Given the description of an element on the screen output the (x, y) to click on. 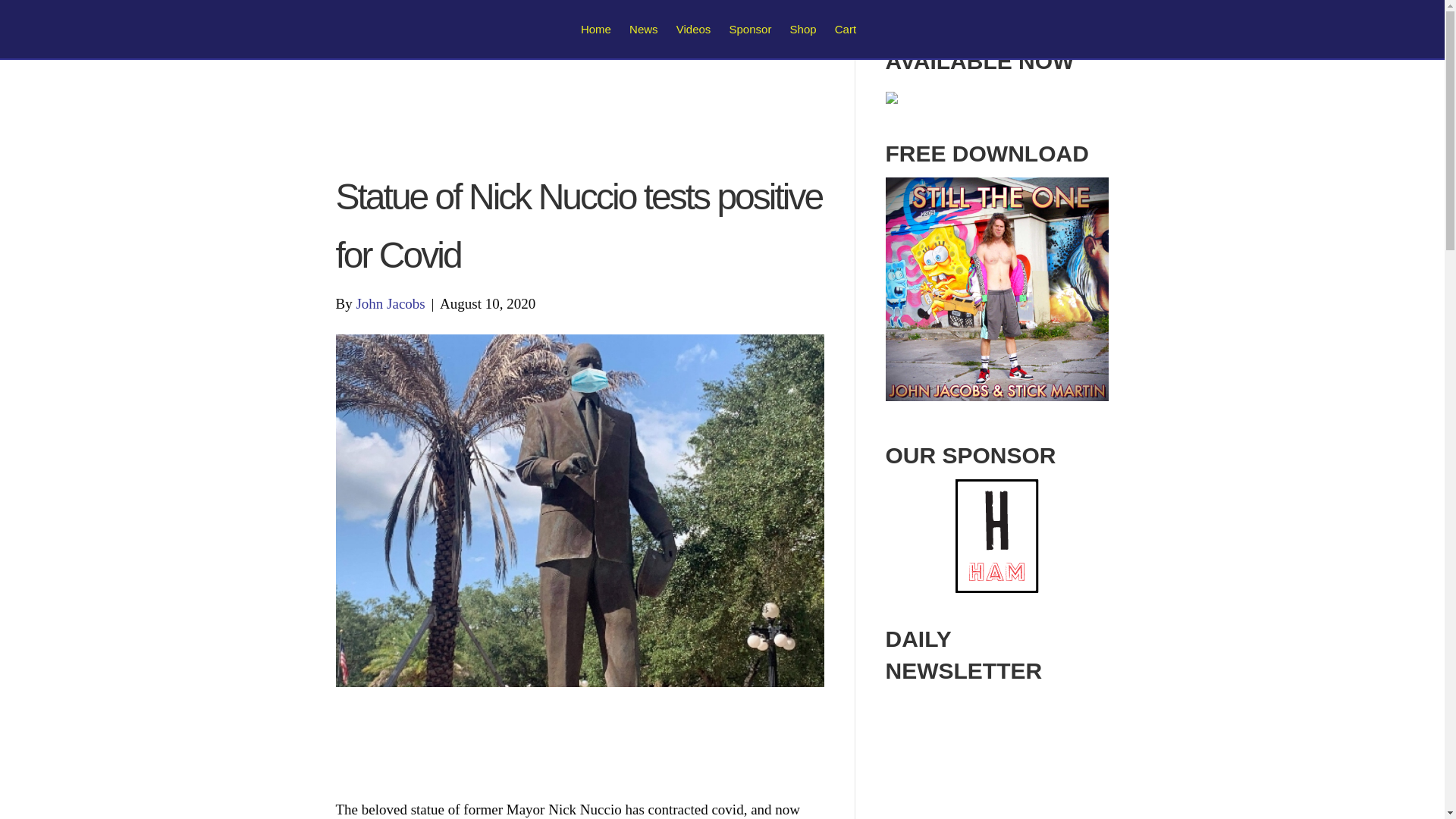
Home (595, 28)
Cart (845, 28)
News (643, 28)
Shop (803, 28)
Sponsor (750, 28)
John Jacobs (390, 303)
Videos (693, 28)
